Given the description of an element on the screen output the (x, y) to click on. 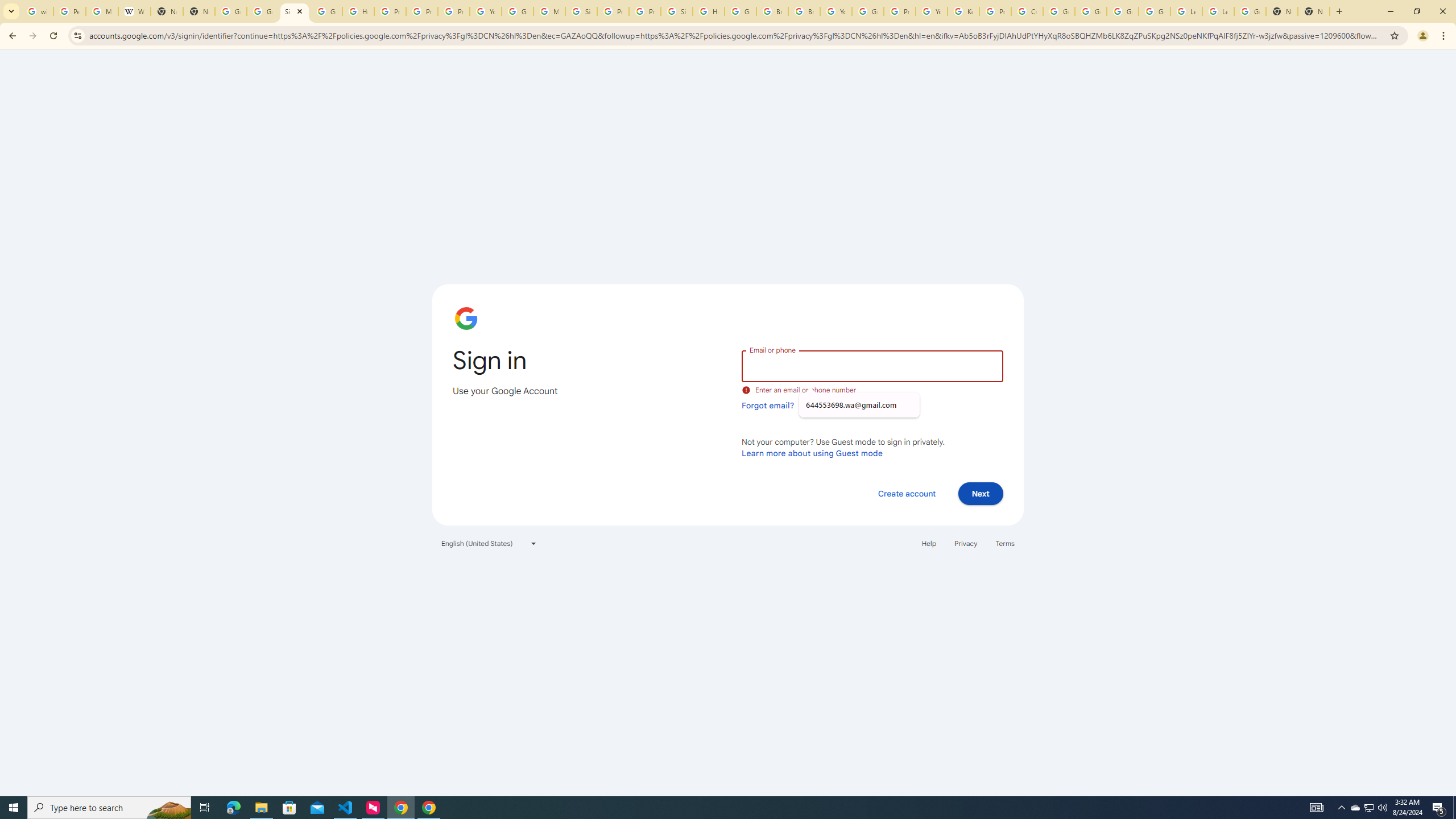
Google Account Help (1091, 11)
Manage your Location History - Google Search Help (101, 11)
Sign in - Google Accounts (676, 11)
644553698.wa@gmail.com (858, 404)
Sign in - Google Accounts (581, 11)
YouTube (836, 11)
